Given the description of an element on the screen output the (x, y) to click on. 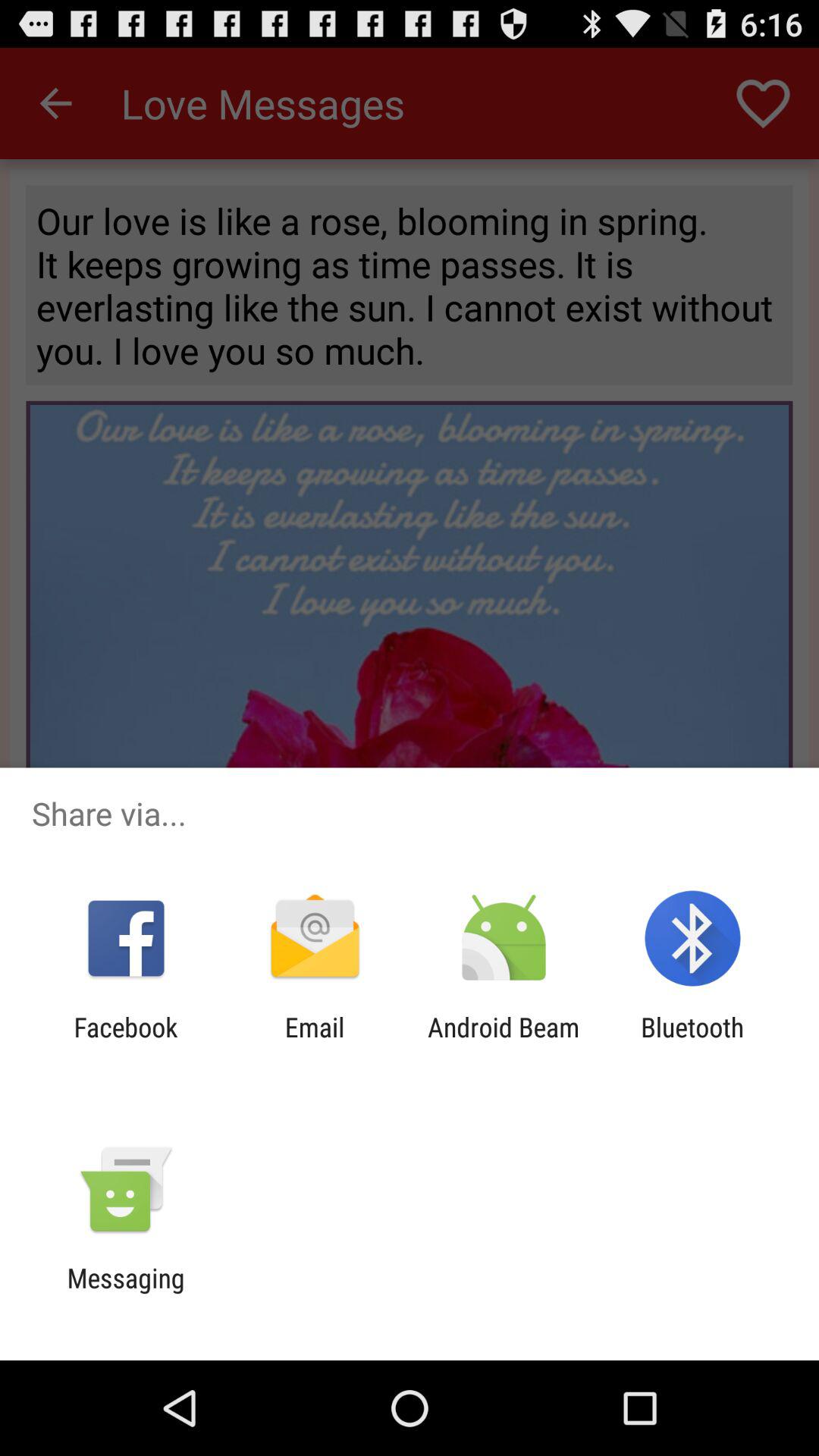
click the item to the left of email icon (125, 1042)
